Given the description of an element on the screen output the (x, y) to click on. 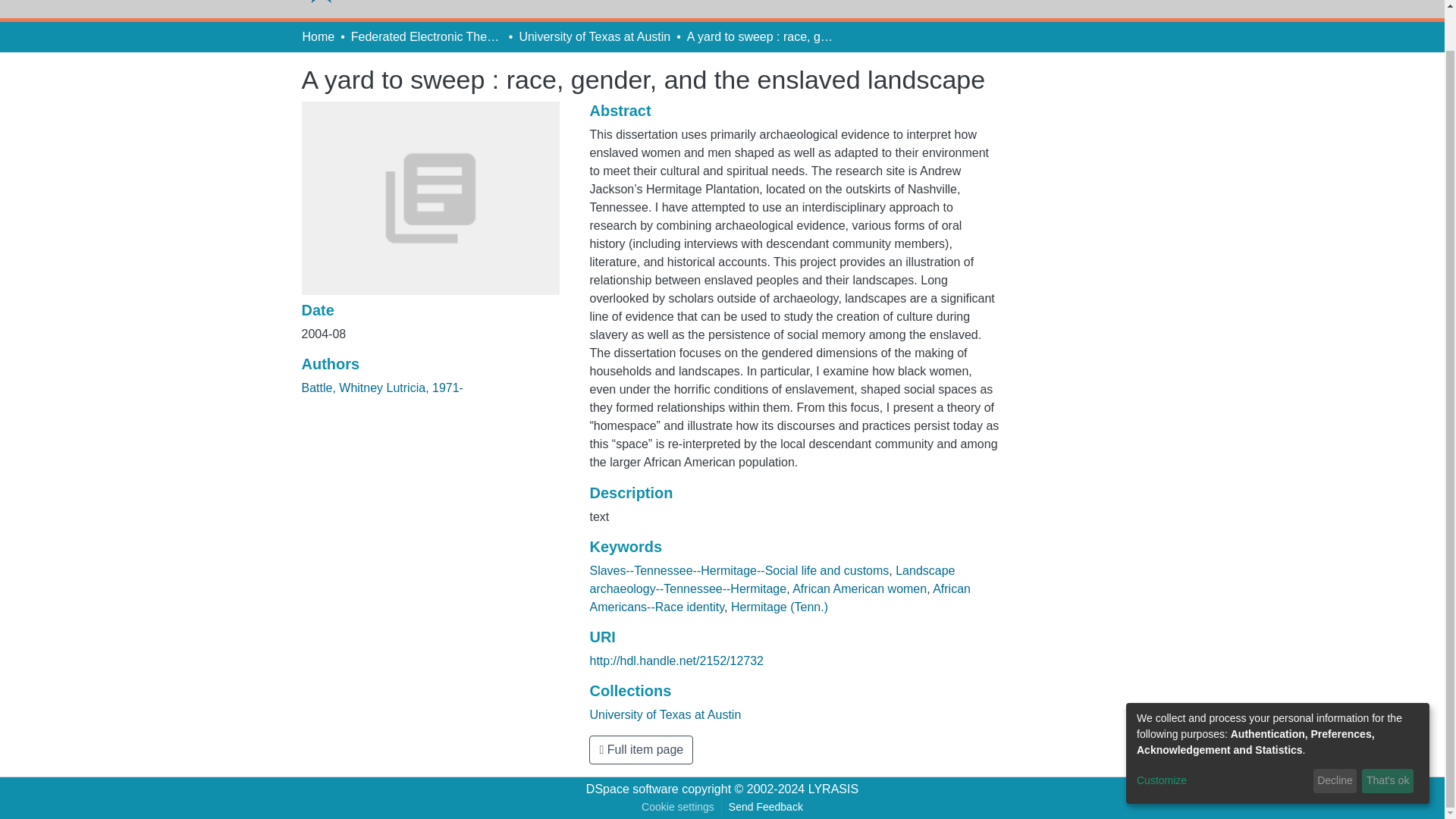
Slaves--Tennessee--Hermitage--Social life and customs (738, 570)
Cookie settings (677, 806)
Battle, Whitney Lutricia, 1971- (382, 387)
University of Texas at Austin (665, 714)
All of DSpace (715, 1)
University of Texas at Austin (593, 36)
That's ok (1387, 738)
Send Feedback (765, 806)
Customize (1222, 738)
DSpace software (632, 788)
